Given the description of an element on the screen output the (x, y) to click on. 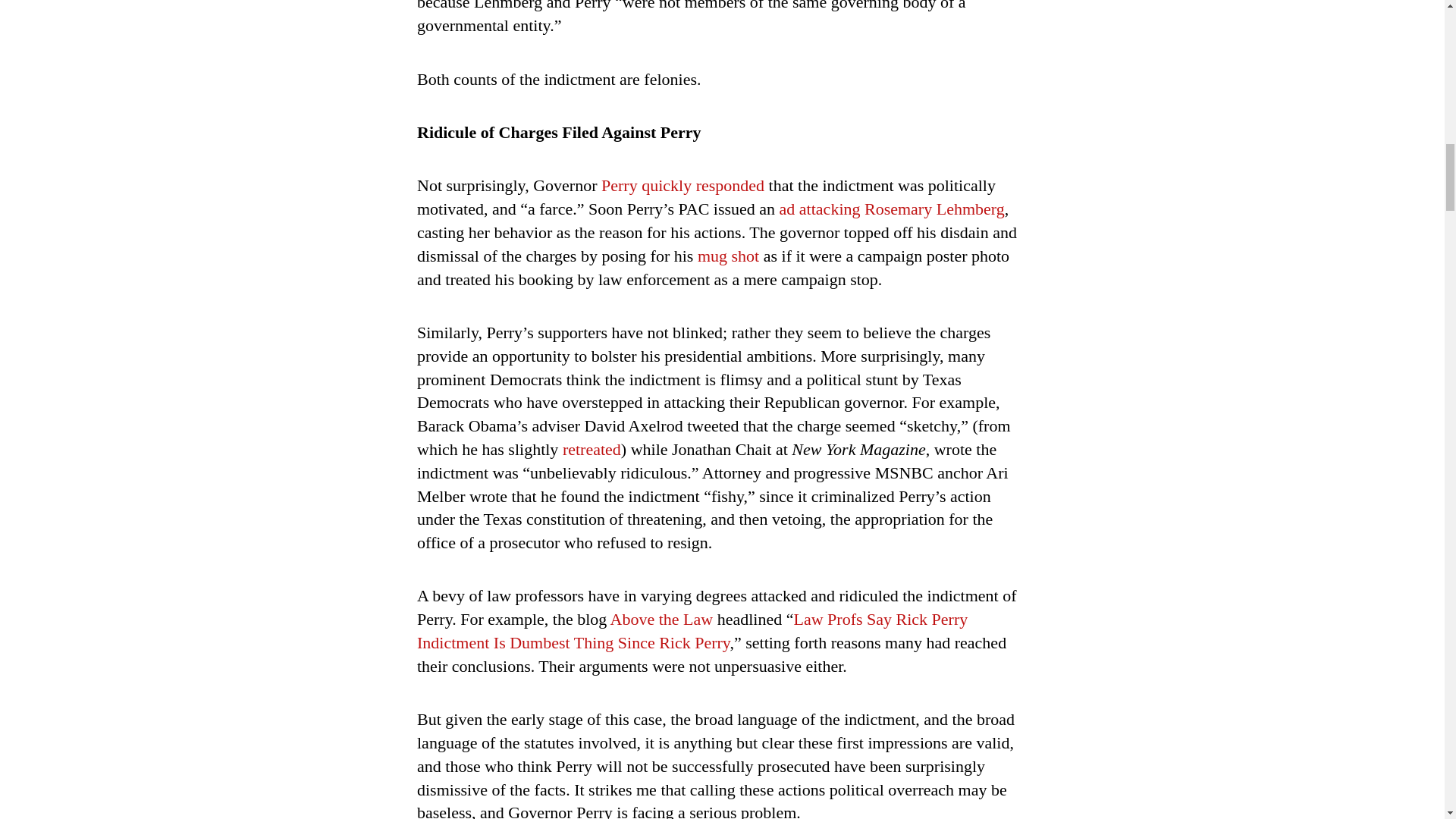
ad attacking Rosemary Lehmberg (891, 208)
Perry quickly responded (682, 185)
retreated (591, 448)
Above the Law (661, 618)
mug shot (727, 255)
